Given the description of an element on the screen output the (x, y) to click on. 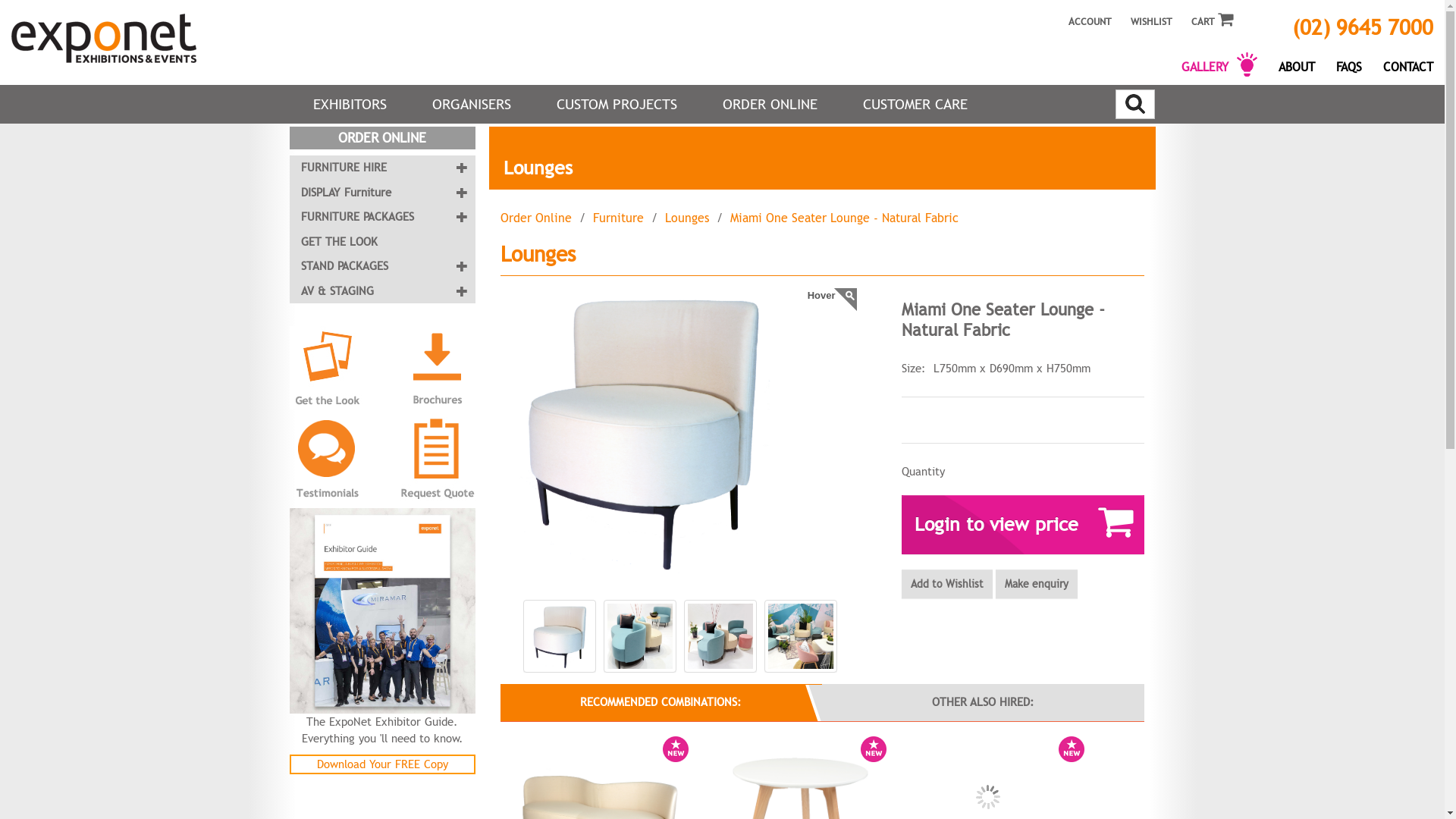
AV & STAGING Element type: text (382, 291)
FURNITURE HIRE Element type: text (382, 167)
(02) 9645 7000 Element type: text (1351, 21)
Make enquiry Element type: text (1035, 583)
GET THE LOOK Element type: text (382, 241)
CONTACT Element type: text (1408, 64)
ACCOUNT Element type: text (1085, 14)
ABOUT Element type: text (1296, 64)
Miami One Seater Lounge - Natural Fabric Element type: text (842, 217)
STAND PACKAGES Element type: text (382, 266)
Lounges Element type: text (686, 217)
FURNITURE PACKAGES Element type: text (382, 216)
ORDER ONLINE Element type: text (769, 103)
DISPLAY Furniture Element type: text (382, 192)
Submit Query Element type: text (1135, 103)
Login to view price Element type: text (1021, 524)
GALLERY Element type: text (1219, 64)
Order Online Element type: text (535, 217)
ORGANISERS Element type: text (471, 103)
CART Element type: text (1212, 15)
FAQS Element type: text (1348, 64)
Download Your FREE Copy Element type: text (382, 764)
Furniture Element type: text (618, 217)
RECOMMENDED COMBINATIONS: Element type: text (661, 702)
CUSTOM PROJECTS Element type: text (616, 103)
WISHLIST Element type: text (1151, 14)
CUSTOMER CARE Element type: text (915, 103)
Add to Wishlist Element type: text (945, 583)
EXHIBITORS Element type: text (348, 103)
OTHER ALSO HIRED: Element type: text (983, 702)
